Given the description of an element on the screen output the (x, y) to click on. 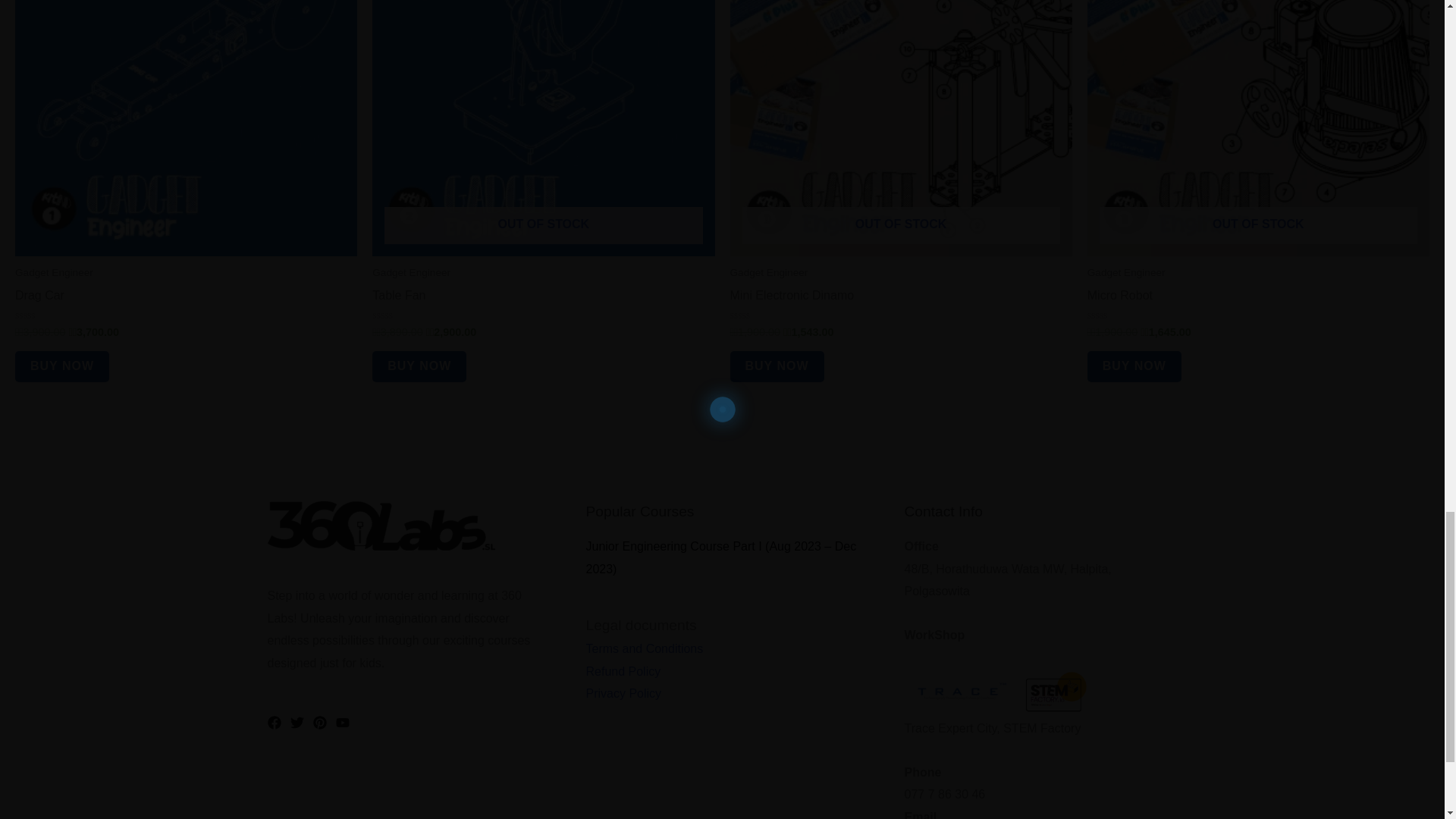
Table Fan (398, 299)
Micro Robot (1120, 299)
BUY NOW (1133, 366)
OUT OF STOCK (543, 128)
BUY NOW (61, 366)
BUY NOW (418, 366)
OUT OF STOCK (900, 128)
Drag Car (39, 299)
BUY NOW (776, 366)
Mini Electronic Dinamo (791, 299)
